Given the description of an element on the screen output the (x, y) to click on. 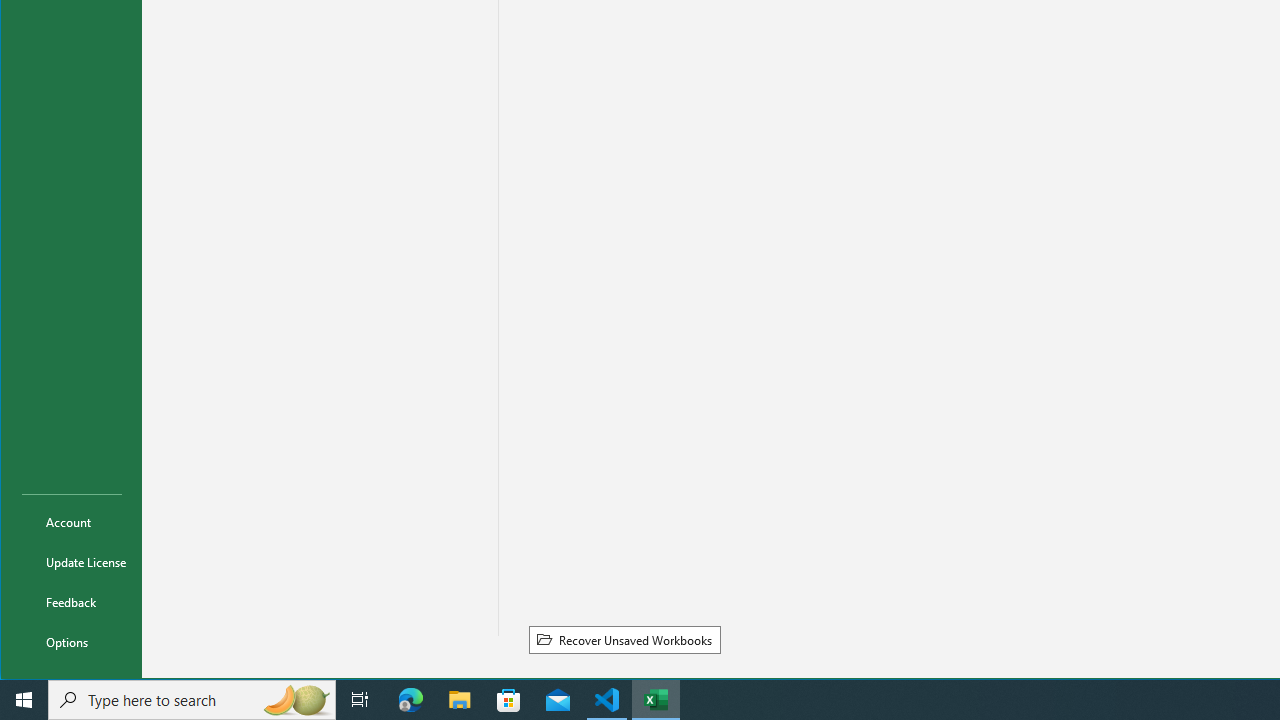
Type here to search (191, 699)
Microsoft Store (509, 699)
Start (24, 699)
Recover Unsaved Workbooks (624, 639)
Visual Studio Code - 1 running window (607, 699)
Microsoft Edge (411, 699)
Search highlights icon opens search home window (295, 699)
Account (72, 521)
Task View (359, 699)
Feedback (72, 601)
Options (72, 641)
Excel - 1 running window (656, 699)
File Explorer (460, 699)
Update License (72, 561)
